Given the description of an element on the screen output the (x, y) to click on. 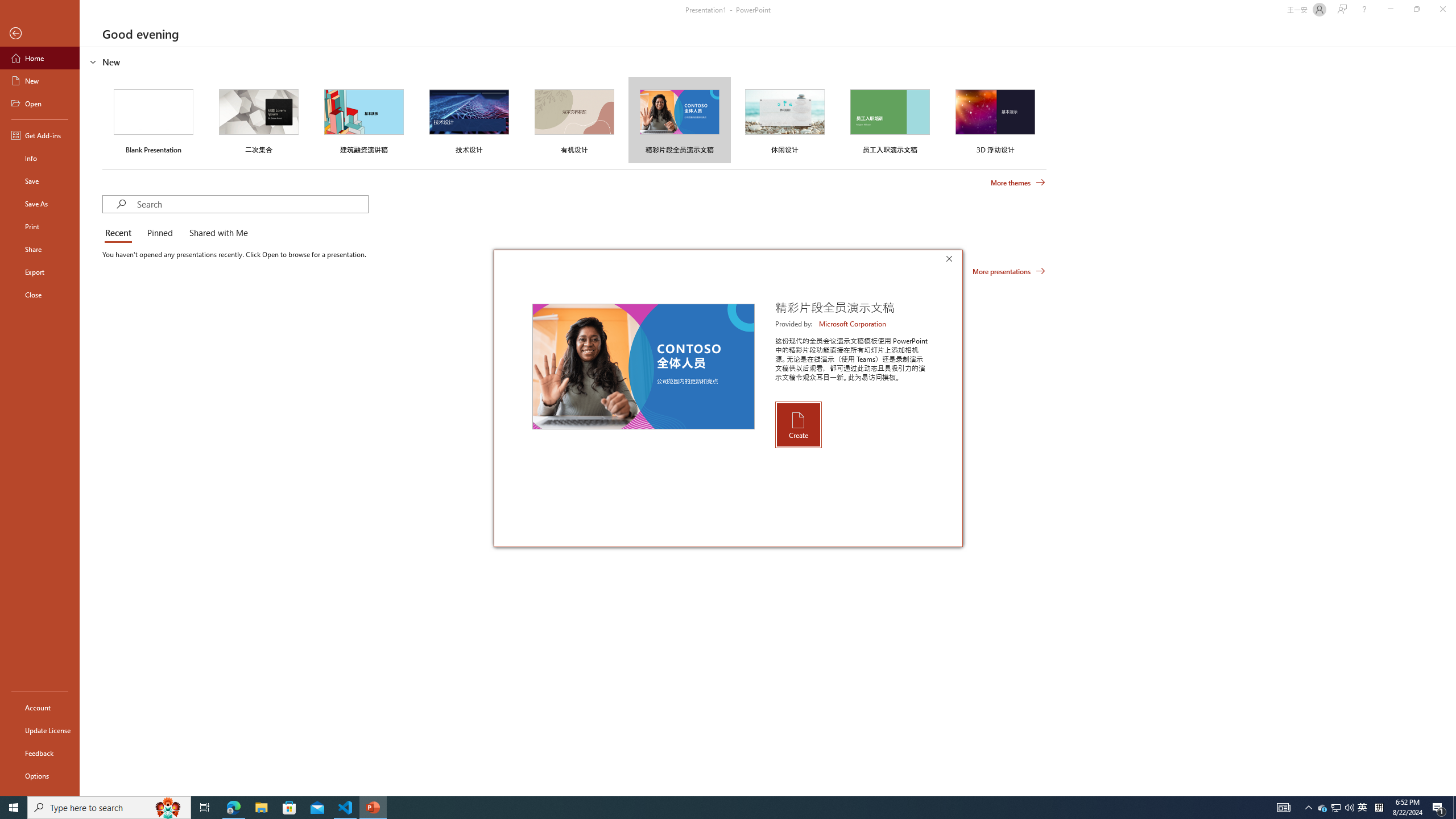
Shared with Me (215, 233)
New (40, 80)
Hide or show region (92, 61)
Feedback (40, 753)
